Given the description of an element on the screen output the (x, y) to click on. 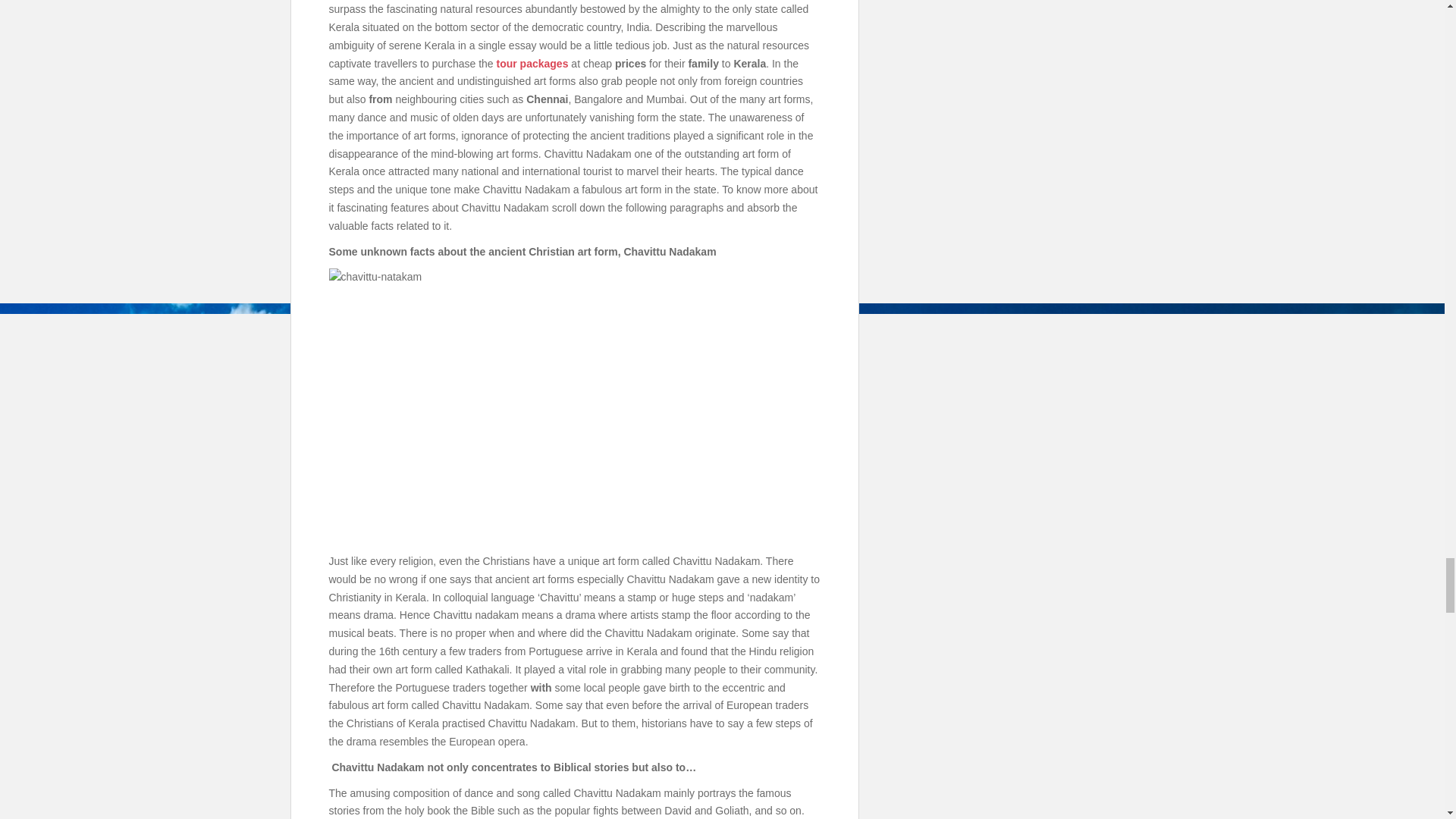
tour packages (532, 63)
